Given the description of an element on the screen output the (x, y) to click on. 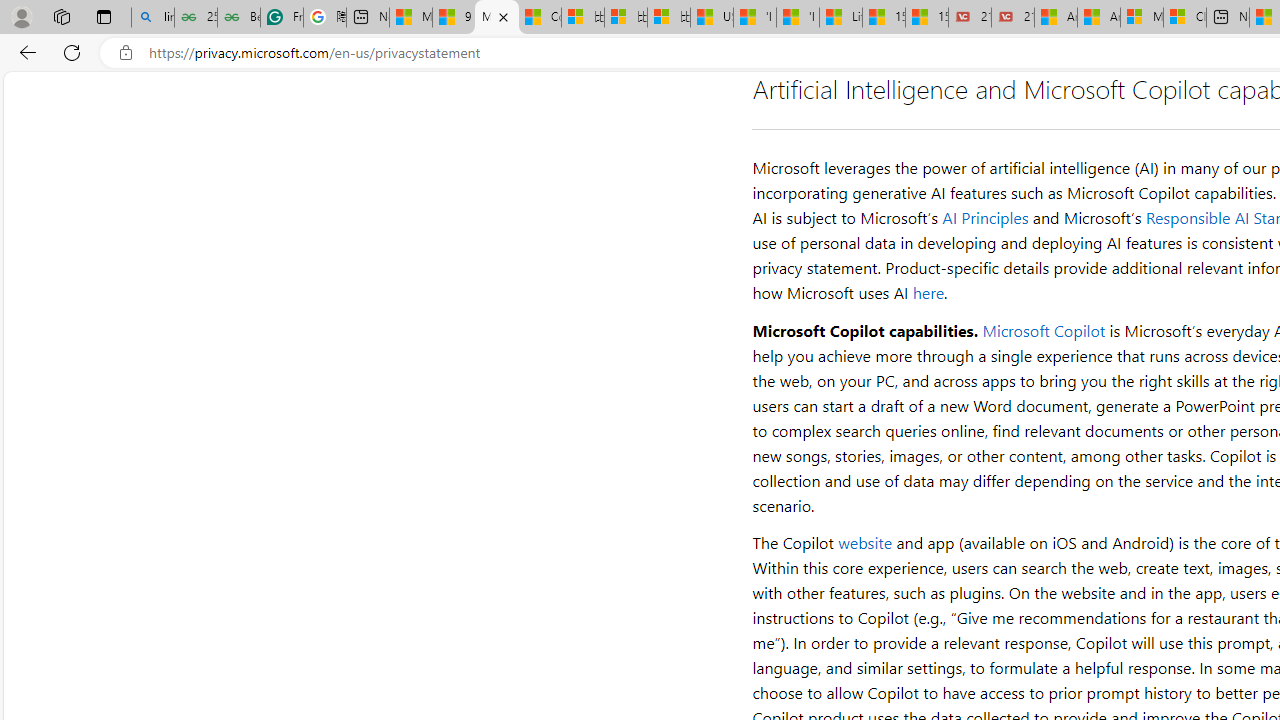
Microsoft Copilot (1043, 329)
Free AI Writing Assistance for Students | Grammarly (282, 17)
21 Movies That Outdid the Books They Were Based On (1013, 17)
25 Basic Linux Commands For Beginners - GeeksforGeeks (196, 17)
